Given the description of an element on the screen output the (x, y) to click on. 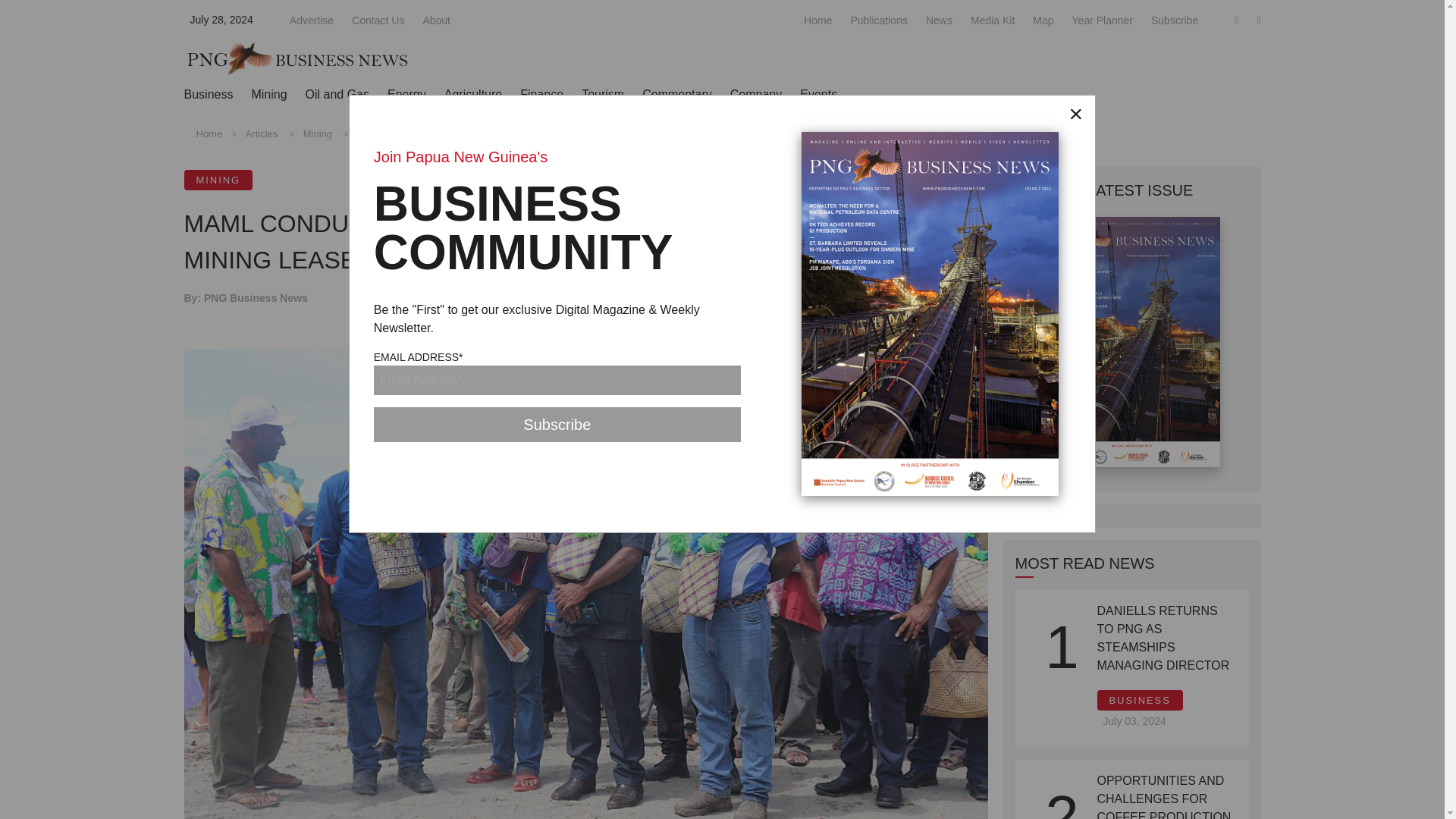
Business (207, 94)
About (435, 20)
Map (1042, 20)
Contact Us (378, 20)
Subscribe (557, 424)
Year Planner (1101, 20)
PNG Business News (296, 58)
Home (817, 20)
Media Kit (992, 20)
Advertise (311, 20)
Oil and Gas (337, 94)
Finance (541, 94)
Agriculture (473, 94)
Company (755, 94)
Commentary (676, 94)
